Given the description of an element on the screen output the (x, y) to click on. 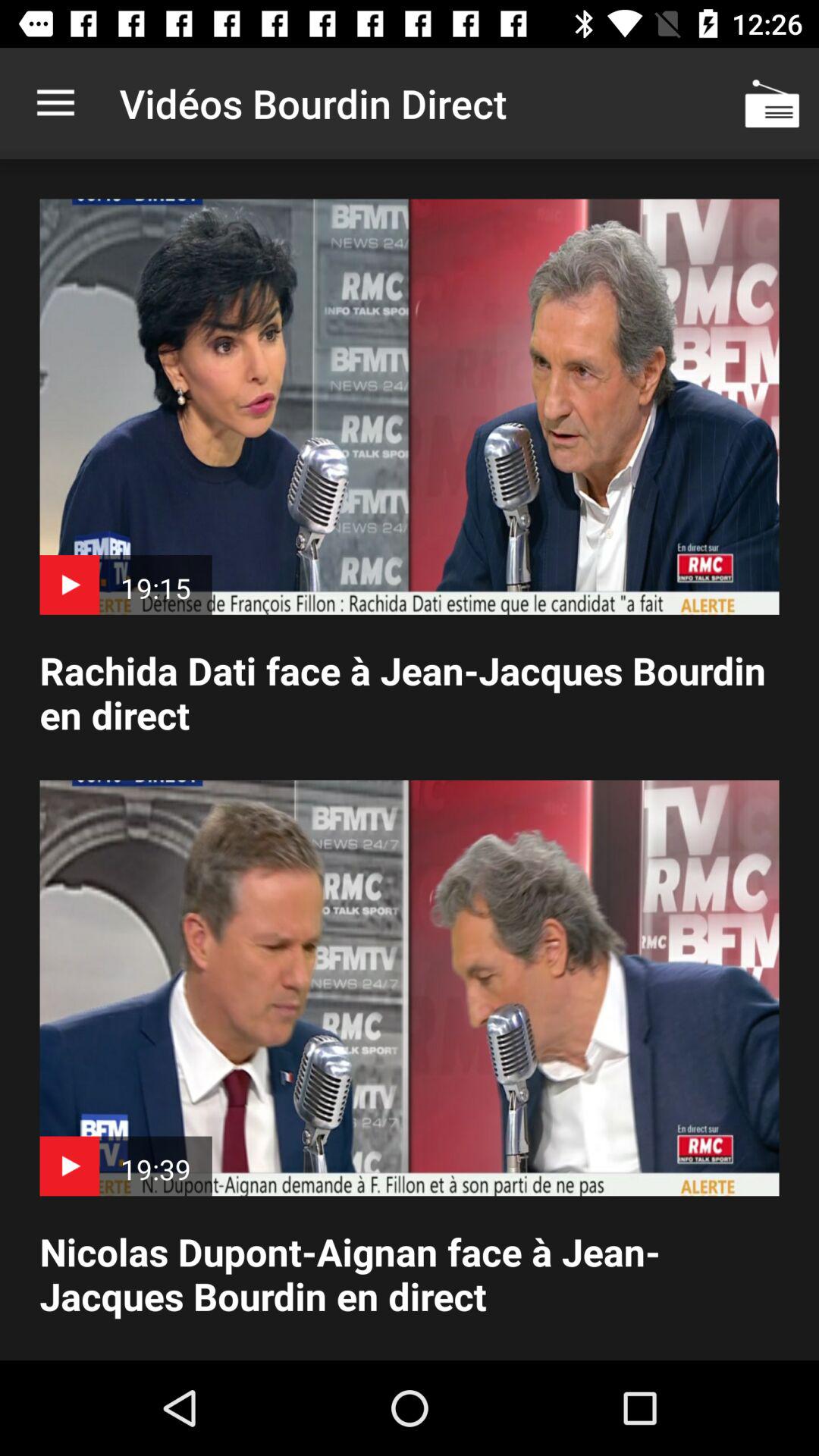
click icon at the top right corner (771, 103)
